Given the description of an element on the screen output the (x, y) to click on. 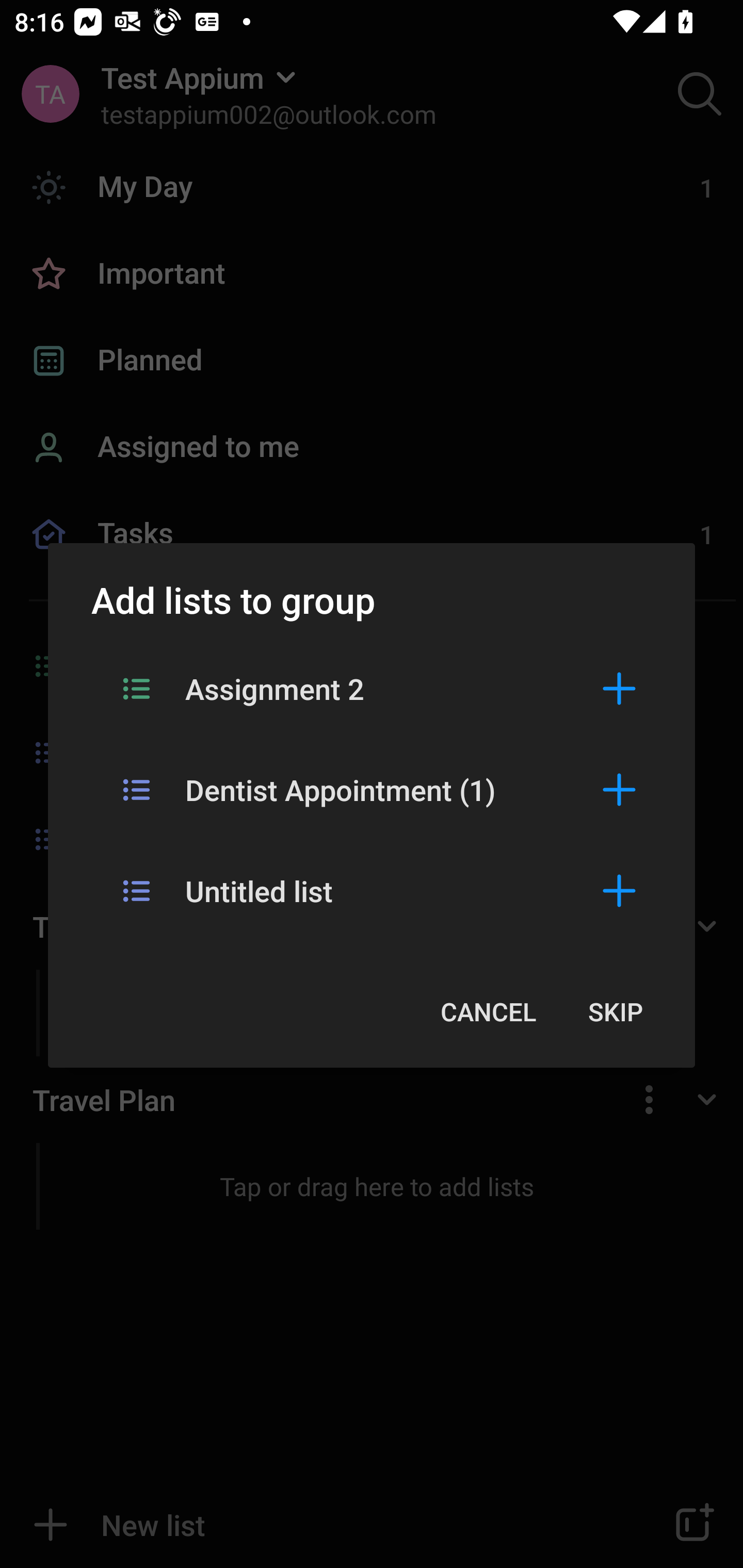
Assignment 2 (371, 688)
Dentist Appointment (1) (371, 789)
Untitled list (371, 890)
CANCEL (488, 1010)
SKIP (615, 1010)
